Given the description of an element on the screen output the (x, y) to click on. 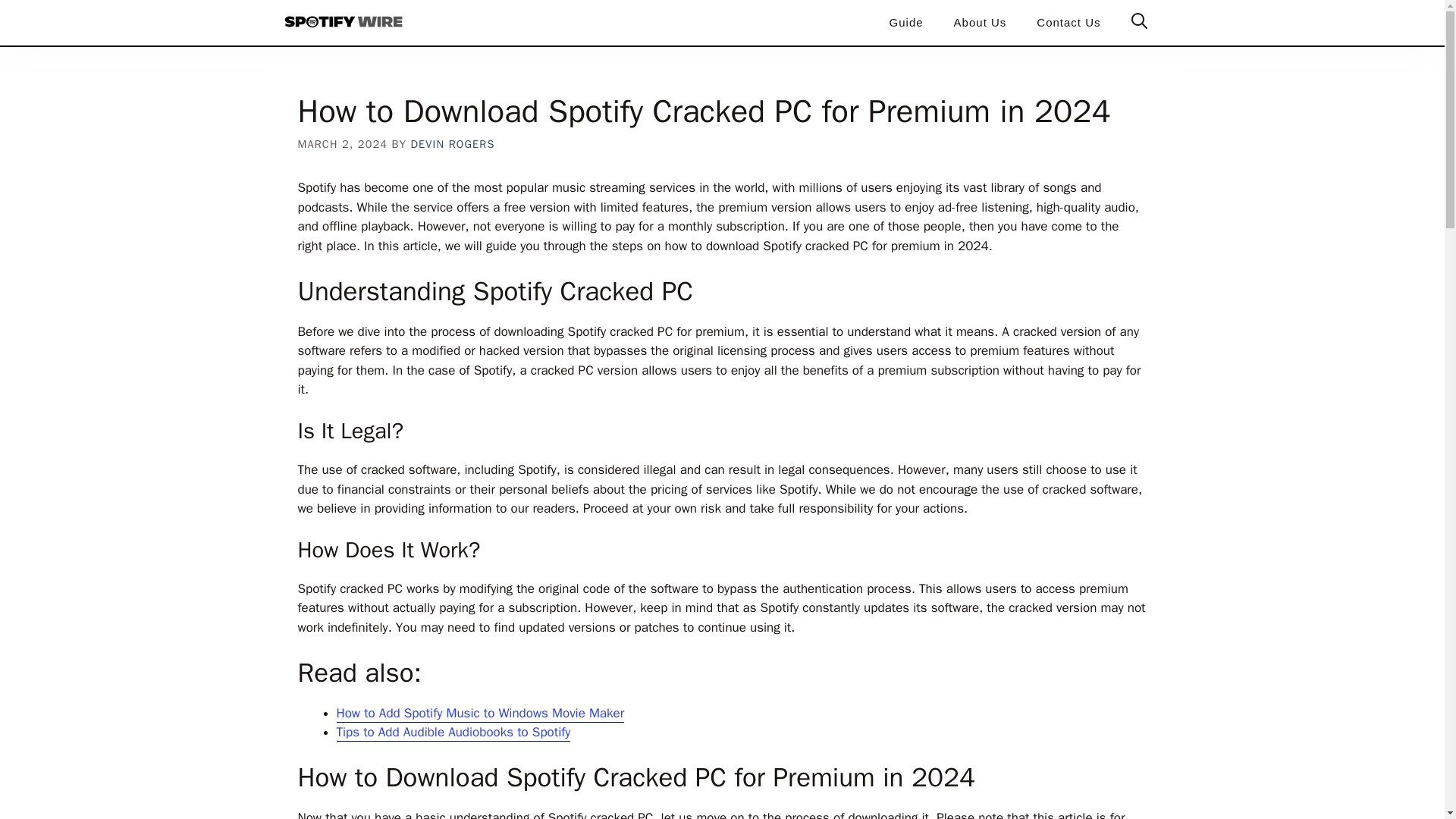
About Us (980, 22)
DEVIN ROGERS (452, 143)
How to Add Spotify Music to Windows Movie Maker (480, 713)
Spotify Wire (344, 22)
View all posts by Devin Rogers (452, 143)
Tips to Add Audible Audiobooks to Spotify (453, 732)
Contact Us (1068, 22)
Guide (907, 22)
